Given the description of an element on the screen output the (x, y) to click on. 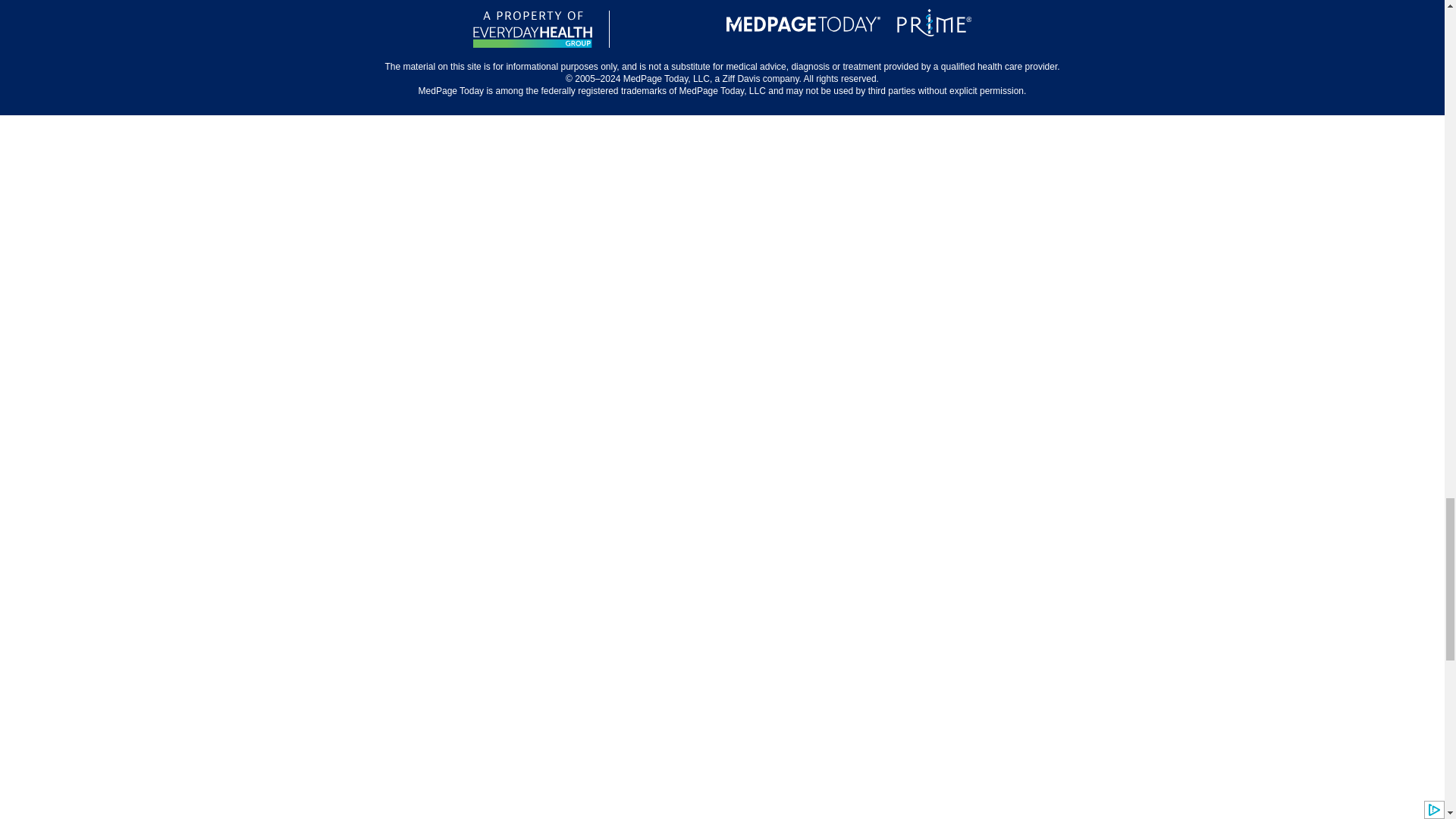
Opens in a new tab or window (933, 26)
Opens in a new tab or window (668, 29)
Opens in a new tab or window (803, 34)
Opens in a new tab or window (532, 29)
